Given the description of an element on the screen output the (x, y) to click on. 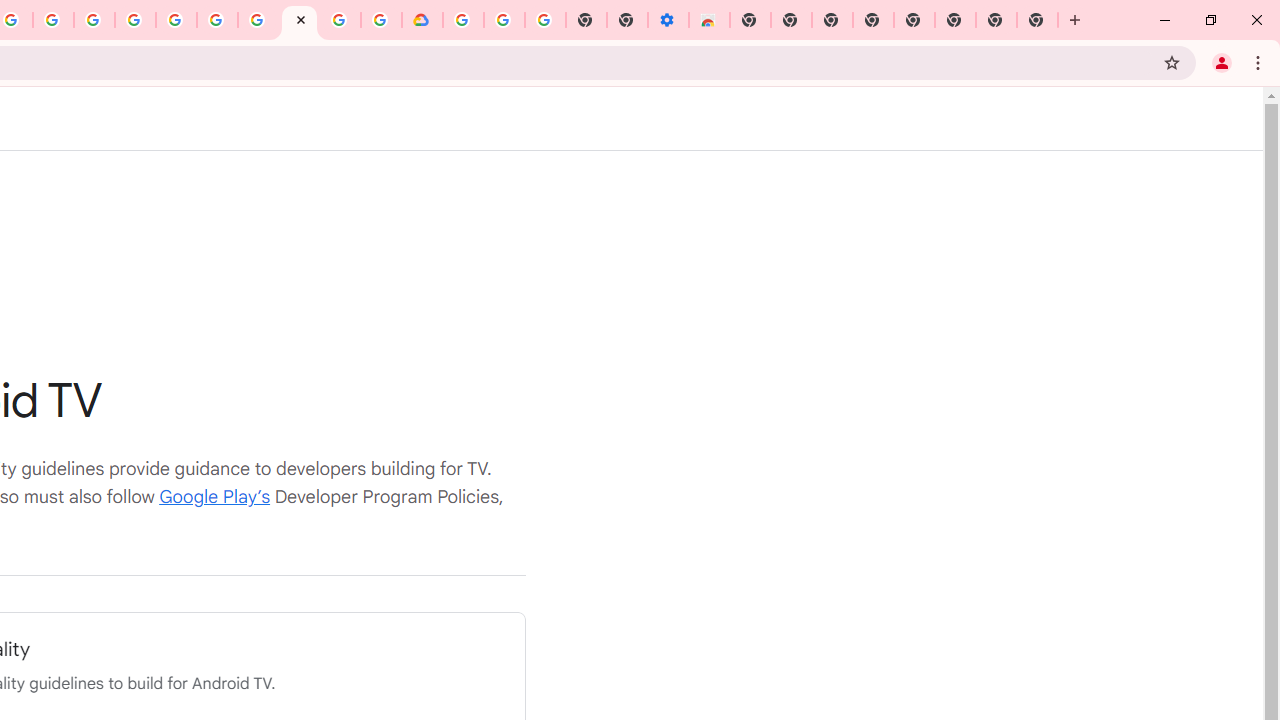
Chrome Web Store - Accessibility extensions (708, 20)
New Tab (749, 20)
Settings - Accessibility (667, 20)
New Tab (1037, 20)
Google Account Help (258, 20)
Android TV Policies and Guidelines - Transparency Center (299, 20)
Sign in - Google Accounts (462, 20)
Ad Settings (135, 20)
